Given the description of an element on the screen output the (x, y) to click on. 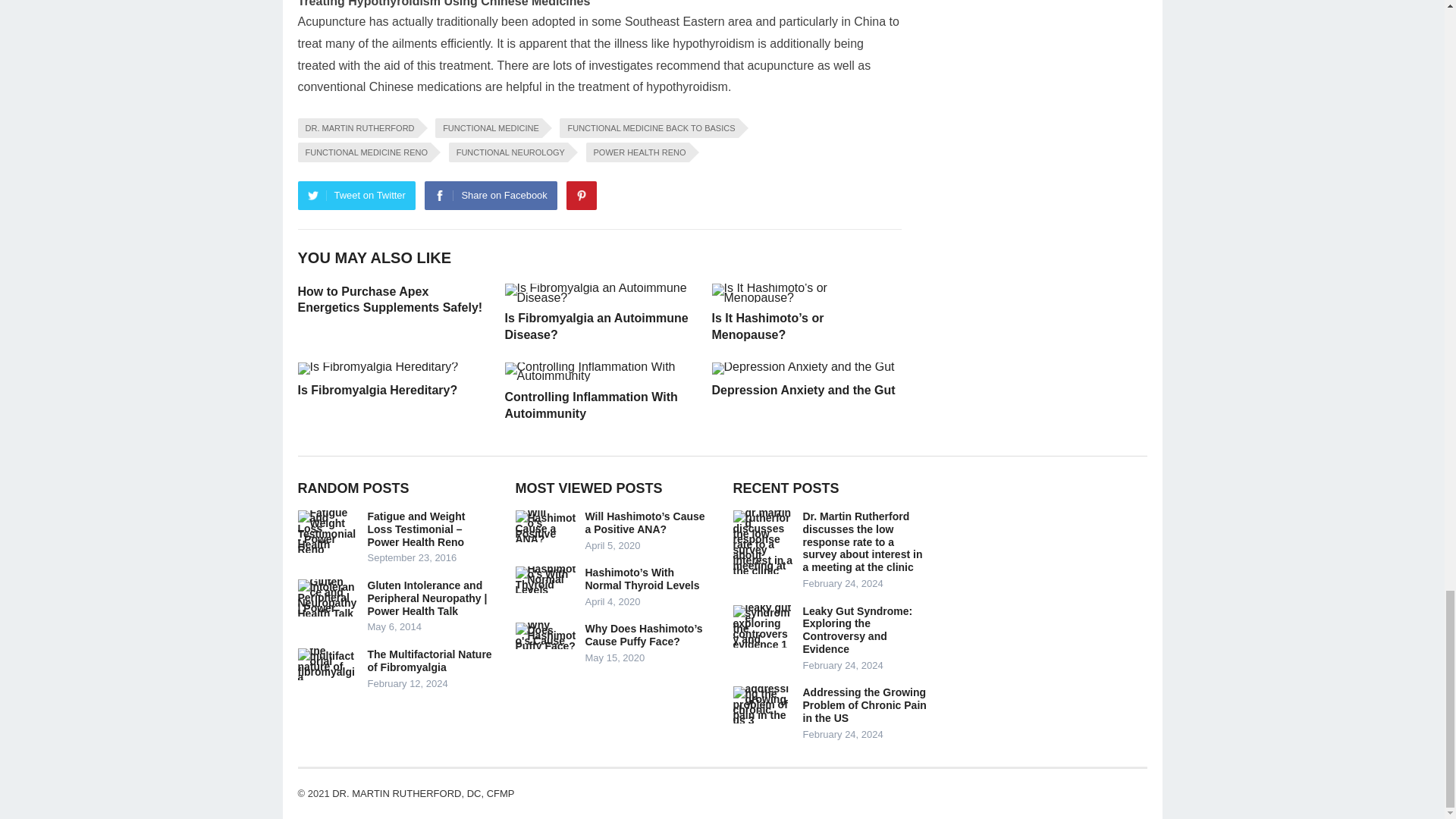
Depression Anxiety and the Gut 10 (802, 368)
FUNCTIONAL MEDICINE BACK TO BASICS (648, 127)
DR. MARTIN RUTHERFORD (356, 127)
Is Fibromyalgia an Autoimmune Disease? 2 (599, 293)
Is It Hashimoto's or Menopause? 4 (805, 293)
Is Fibromyalgia Hereditary? 6 (377, 368)
Pinterest (581, 194)
Controlling Inflammation With Autoimmunity 8 (599, 372)
FUNCTIONAL MEDICINE (488, 127)
FUNCTIONAL MEDICINE RENO (363, 152)
